Given the description of an element on the screen output the (x, y) to click on. 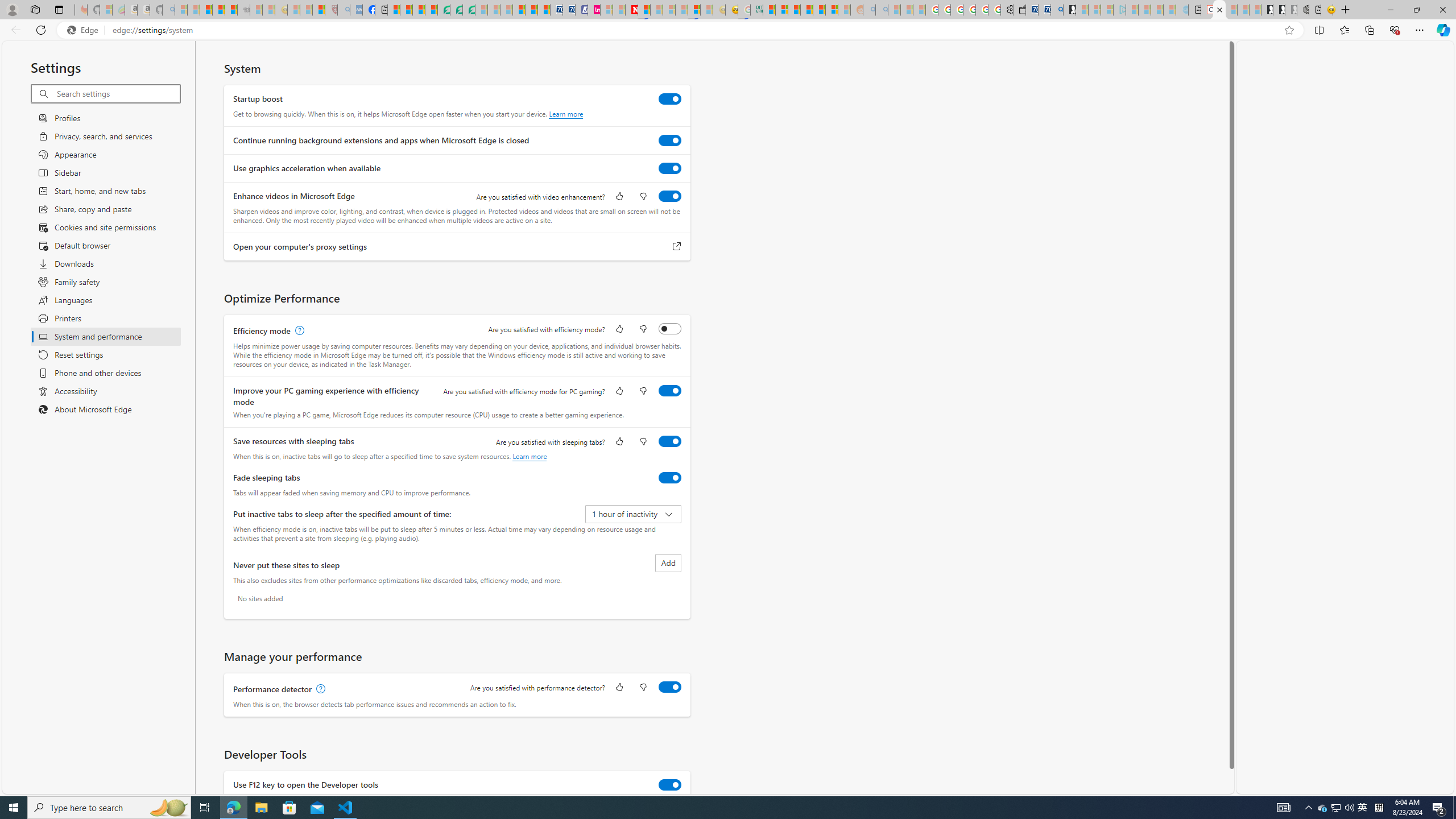
Jobs - lastminute.com Investor Portal (593, 9)
Use graphics acceleration when available (669, 167)
Open your computer's proxy settings (676, 246)
